Given the description of an element on the screen output the (x, y) to click on. 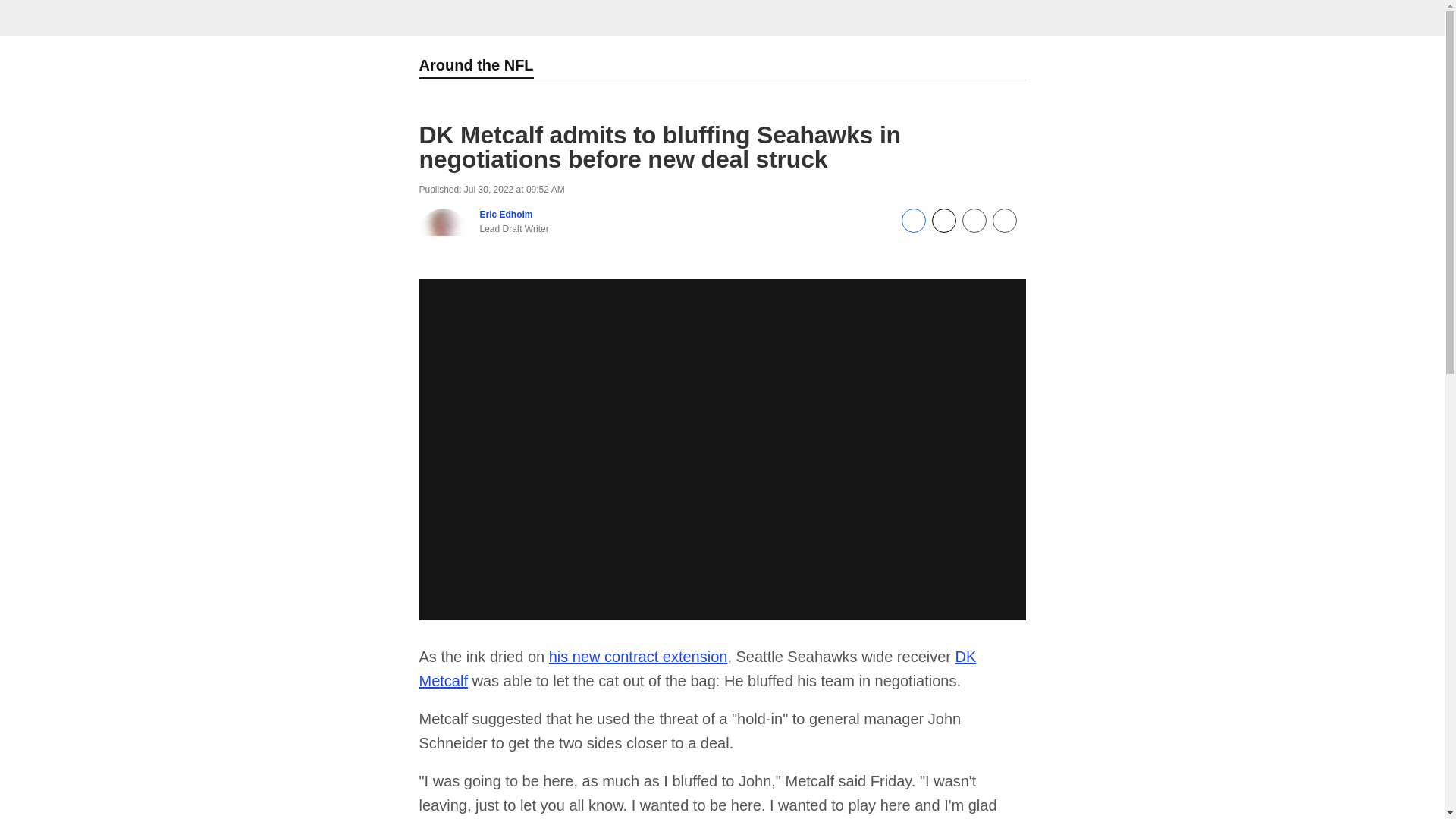
Copy link (1003, 221)
Around the NFL (475, 66)
Send email (972, 228)
DK Metcalf (697, 668)
Eric Edholm (505, 214)
Share on Facebook (912, 228)
Share on Twitter (943, 228)
his new contract extension (638, 656)
DK Metcalf (697, 668)
